Given the description of an element on the screen output the (x, y) to click on. 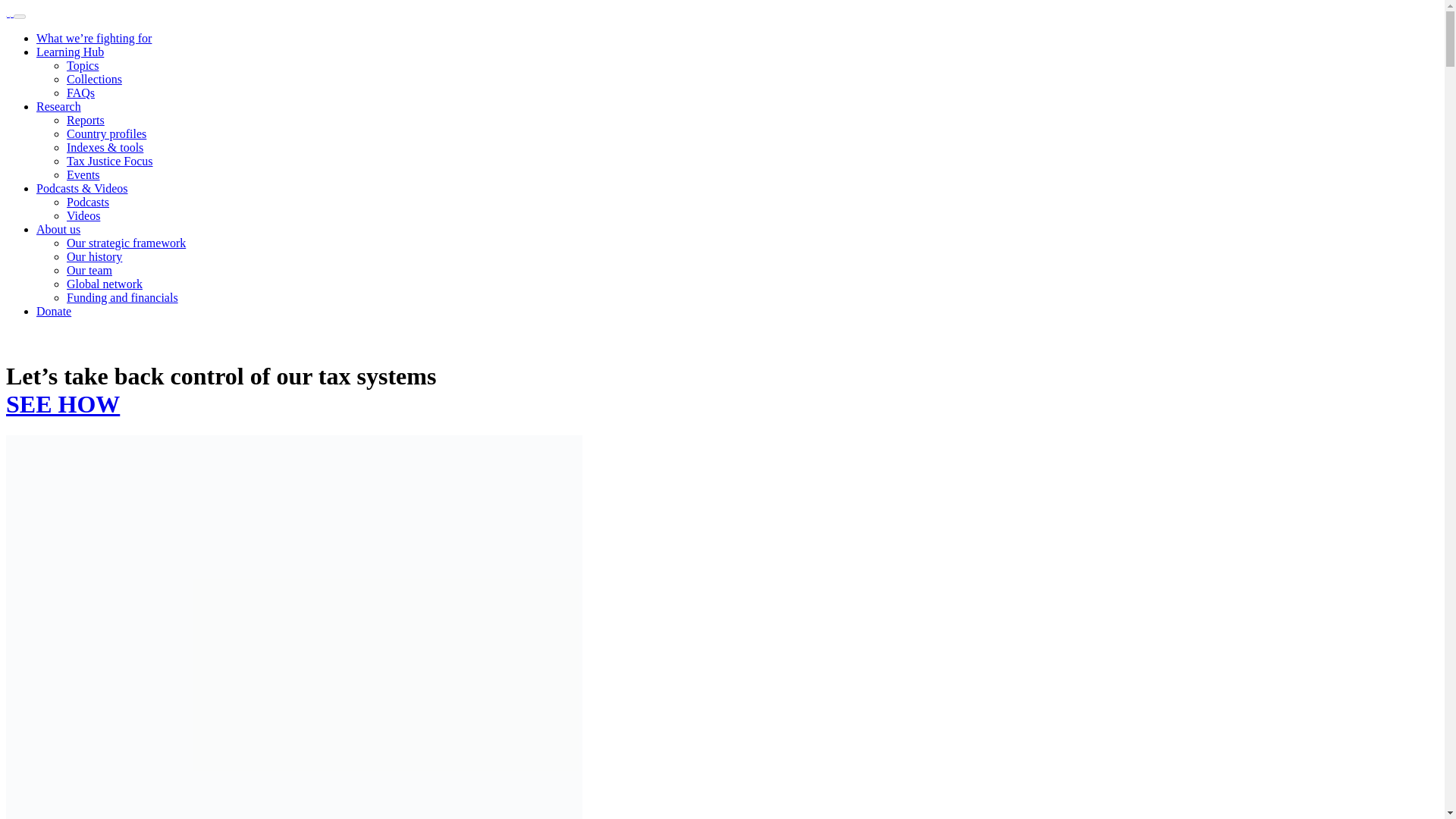
Global network (104, 283)
Our team (89, 269)
Videos (83, 215)
FAQs (80, 92)
Tax Justice Focus (109, 160)
Donate (53, 310)
Events (83, 174)
Learning Hub (69, 51)
Podcasts (87, 201)
Funding and financials (121, 297)
Our strategic framework (126, 242)
Topics (82, 65)
About us (58, 228)
Country profiles (106, 133)
Reports (85, 119)
